Given the description of an element on the screen output the (x, y) to click on. 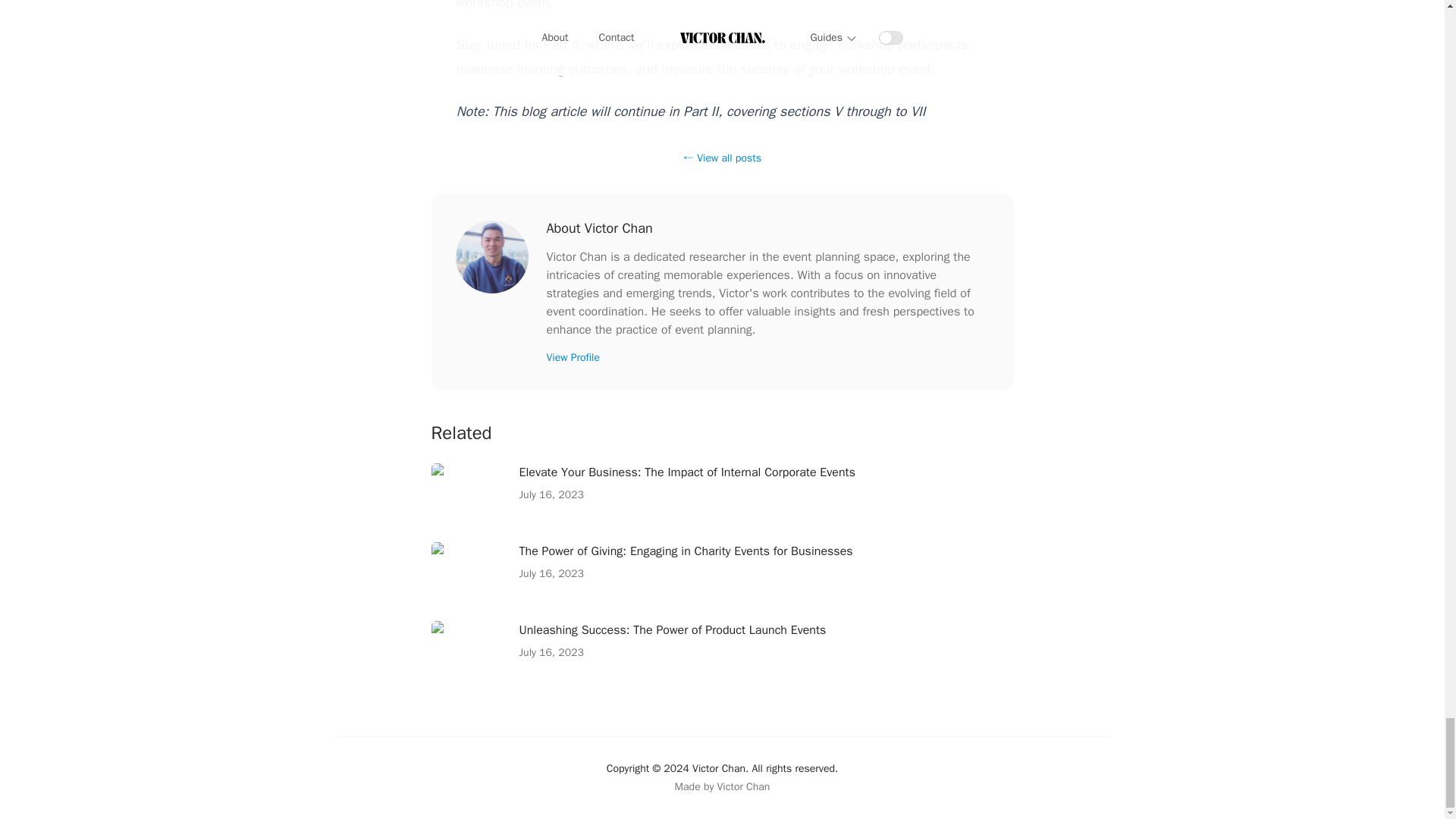
View Profile (572, 357)
